Given the description of an element on the screen output the (x, y) to click on. 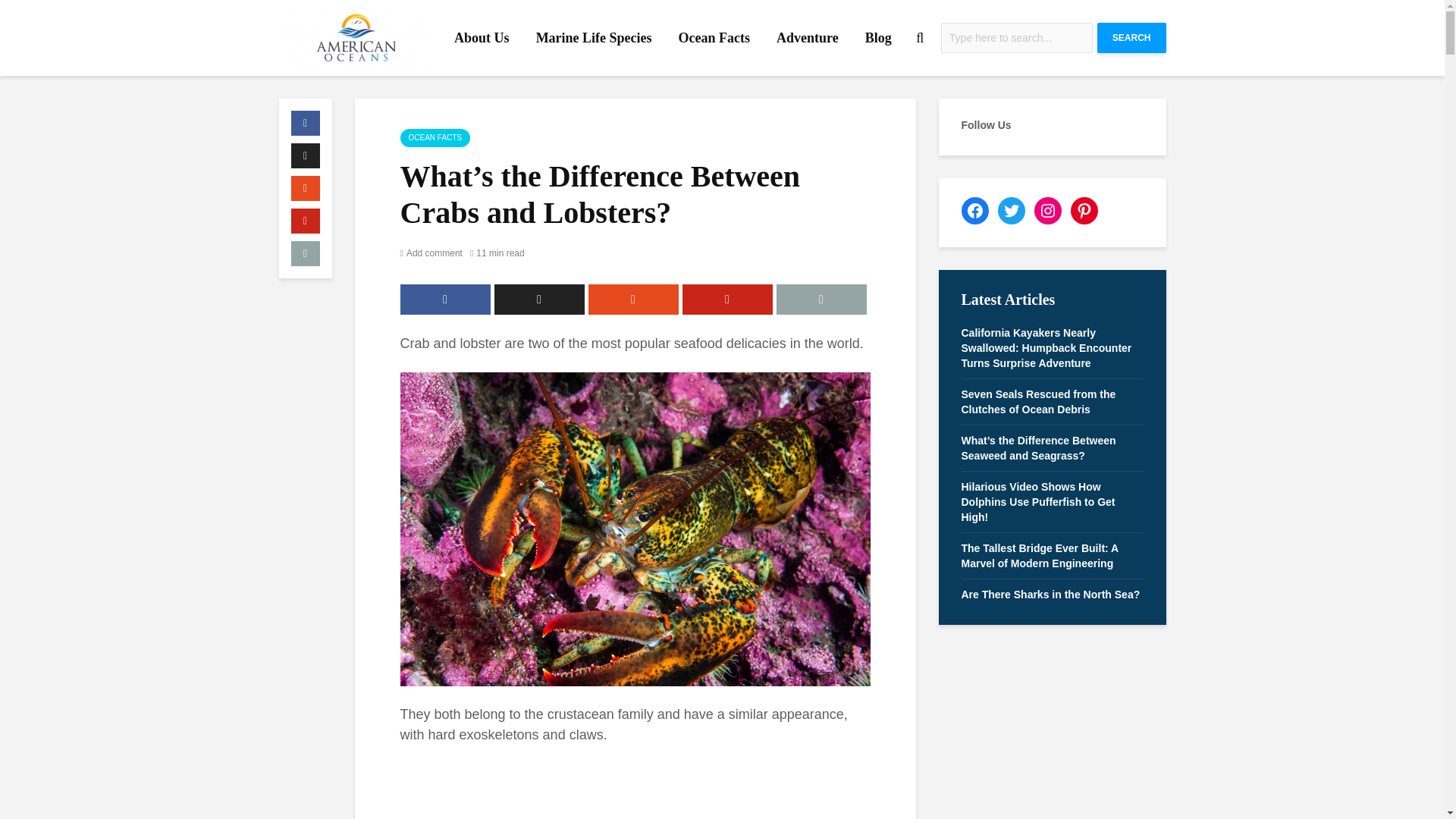
Adventure (807, 37)
Marine Life Species (593, 37)
SEARCH (1131, 37)
Blog (877, 37)
Ocean Facts (713, 37)
About Us (481, 37)
